Given the description of an element on the screen output the (x, y) to click on. 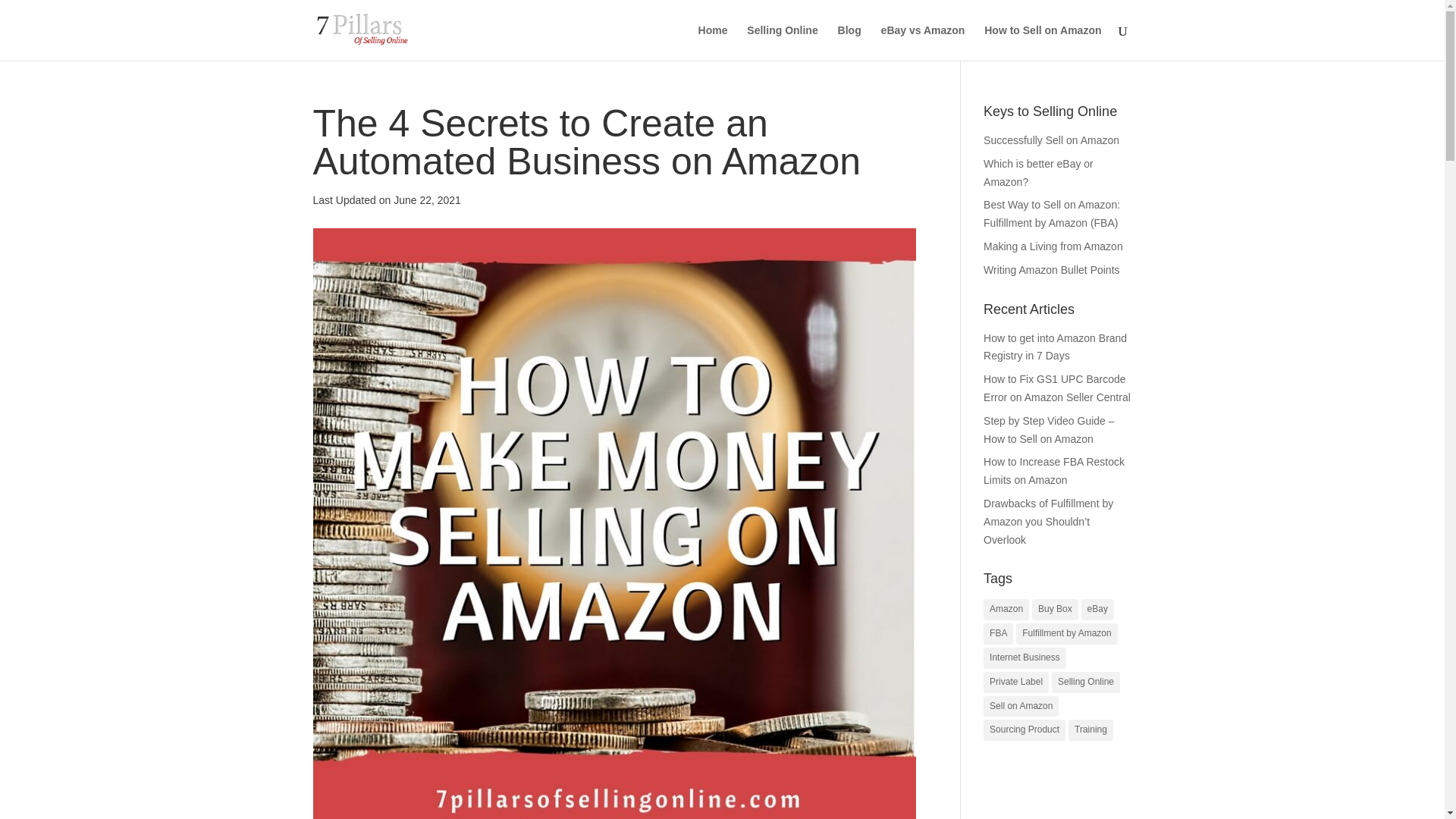
FBA (998, 633)
eBay (1097, 608)
Internet Business (1024, 658)
How to Sell on Amazon (1042, 42)
Which is better eBay or Amazon? (1038, 173)
Selling Online (1085, 681)
Which makes you more money: Amazon or eBay? (1038, 173)
How to get into Amazon Brand Registry in 7 Days (1055, 347)
Buy Box (1055, 608)
Sell on Amazon (1021, 706)
Successfully Sell on Amazon (1051, 140)
Training (1090, 730)
Making a Living from Amazon (1053, 246)
Private Label (1016, 681)
Selling Online (781, 42)
